Given the description of an element on the screen output the (x, y) to click on. 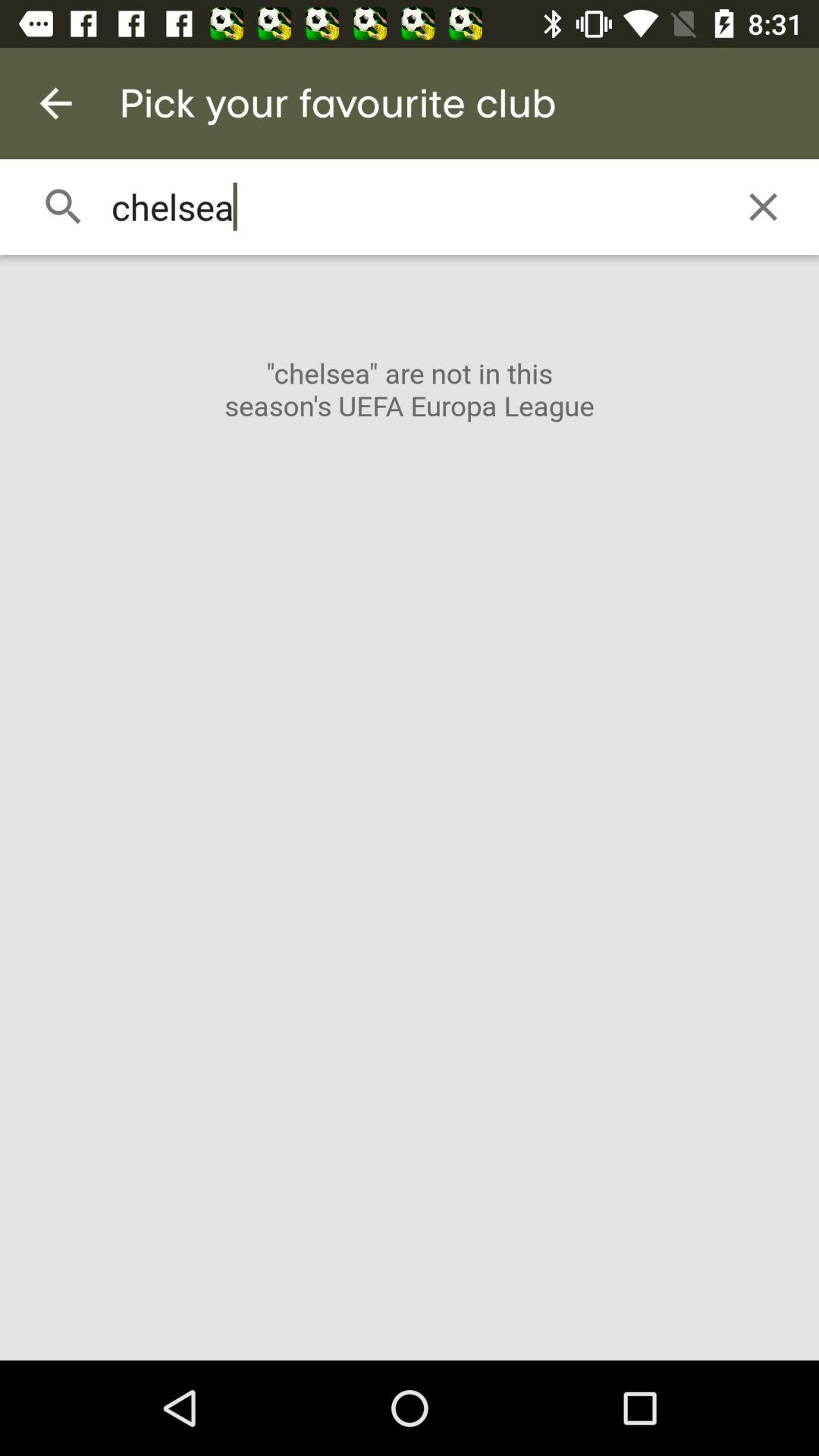
press the item to the left of the pick your favourite (55, 103)
